Given the description of an element on the screen output the (x, y) to click on. 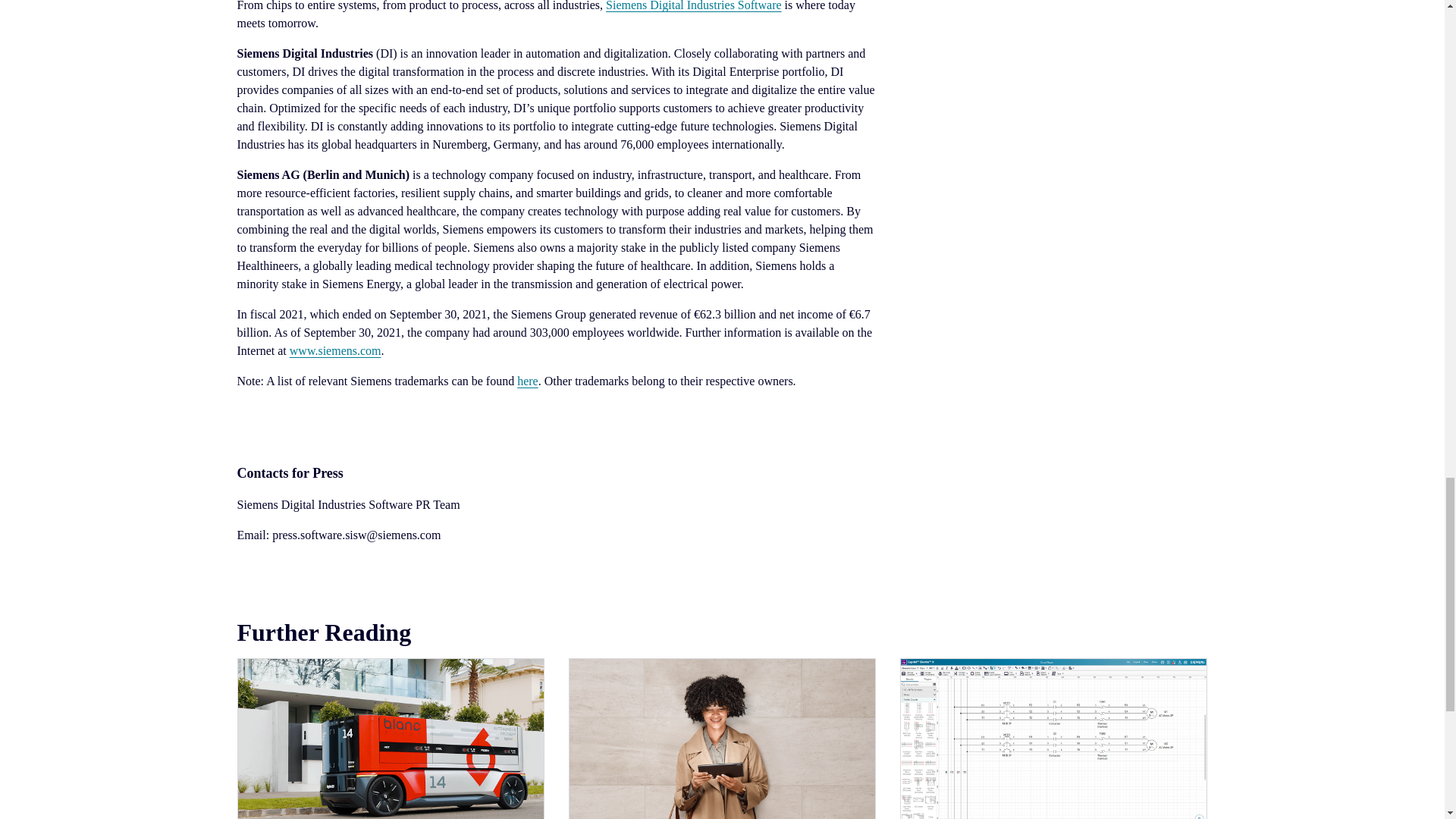
Siemens Digital Industries Software (693, 5)
www.siemens.com (335, 350)
here (527, 380)
